Given the description of an element on the screen output the (x, y) to click on. 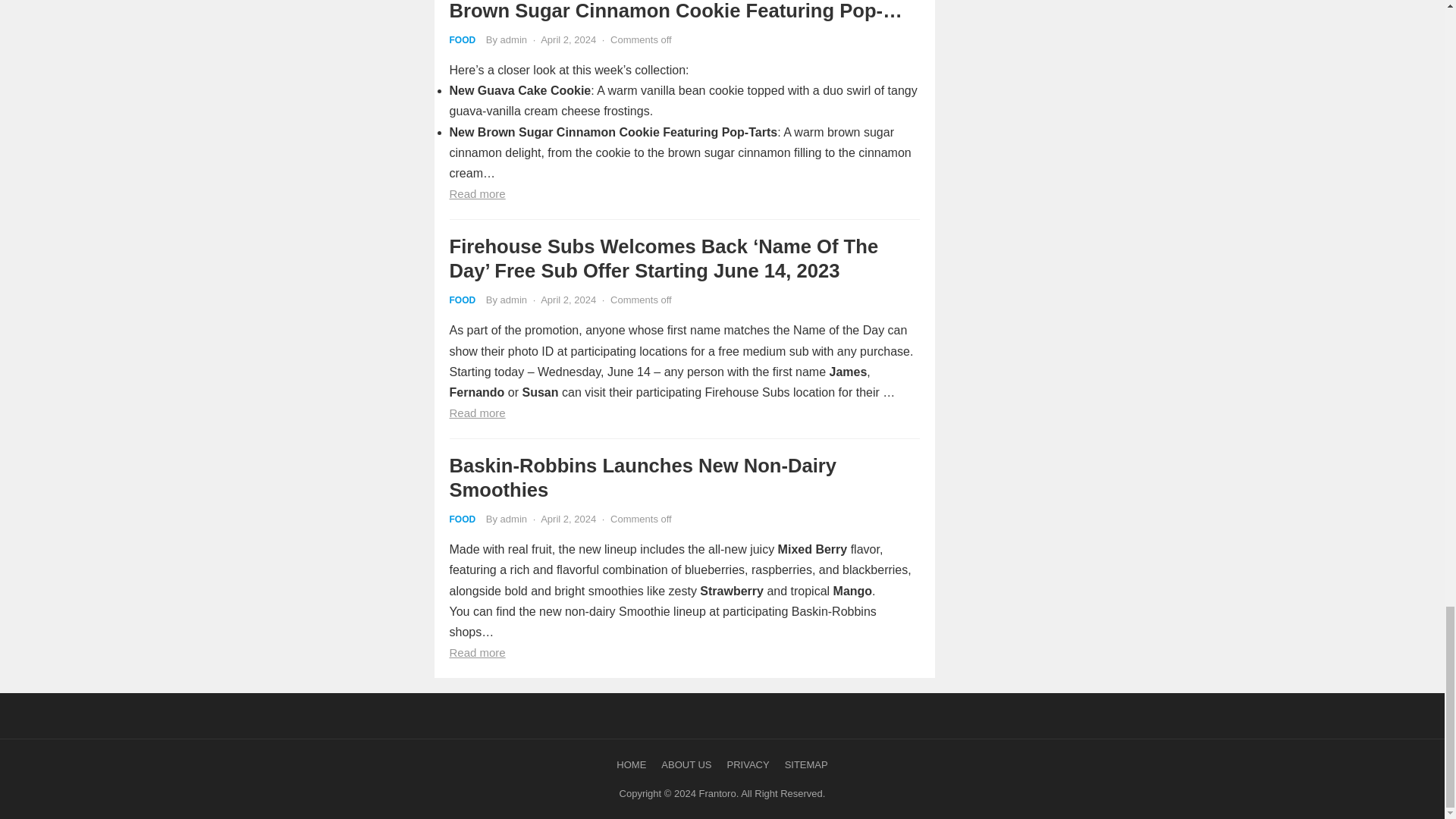
Posts by admin (513, 299)
Posts by admin (513, 39)
